Given the description of an element on the screen output the (x, y) to click on. 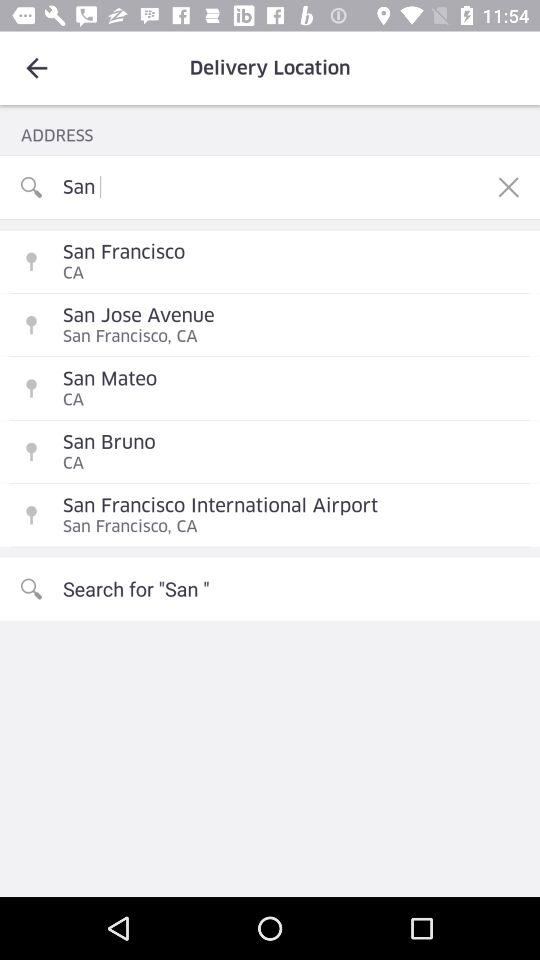
press icon to the right of san (508, 187)
